Given the description of an element on the screen output the (x, y) to click on. 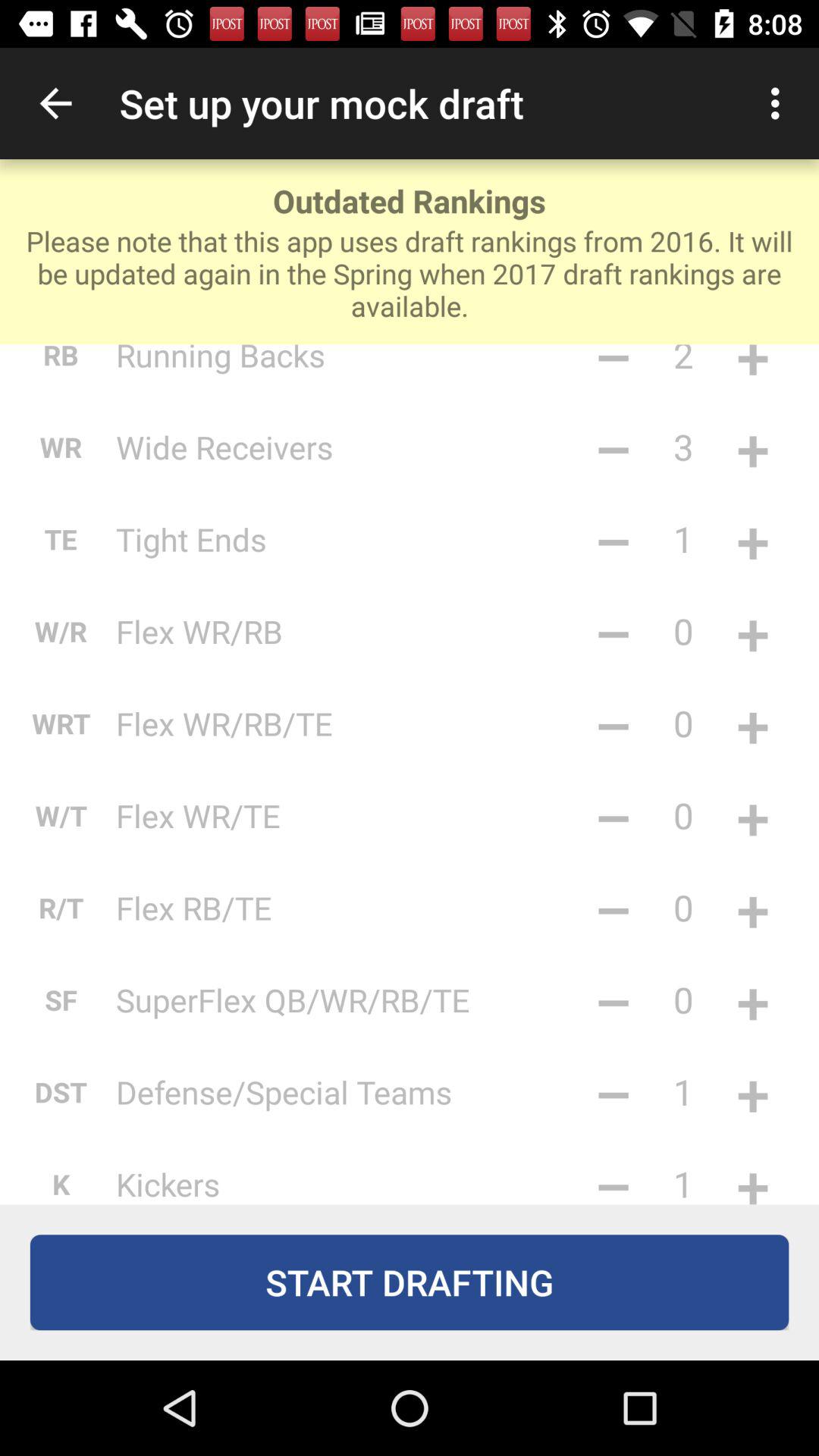
tap the item to the right of defense/special teams icon (613, 1091)
